Given the description of an element on the screen output the (x, y) to click on. 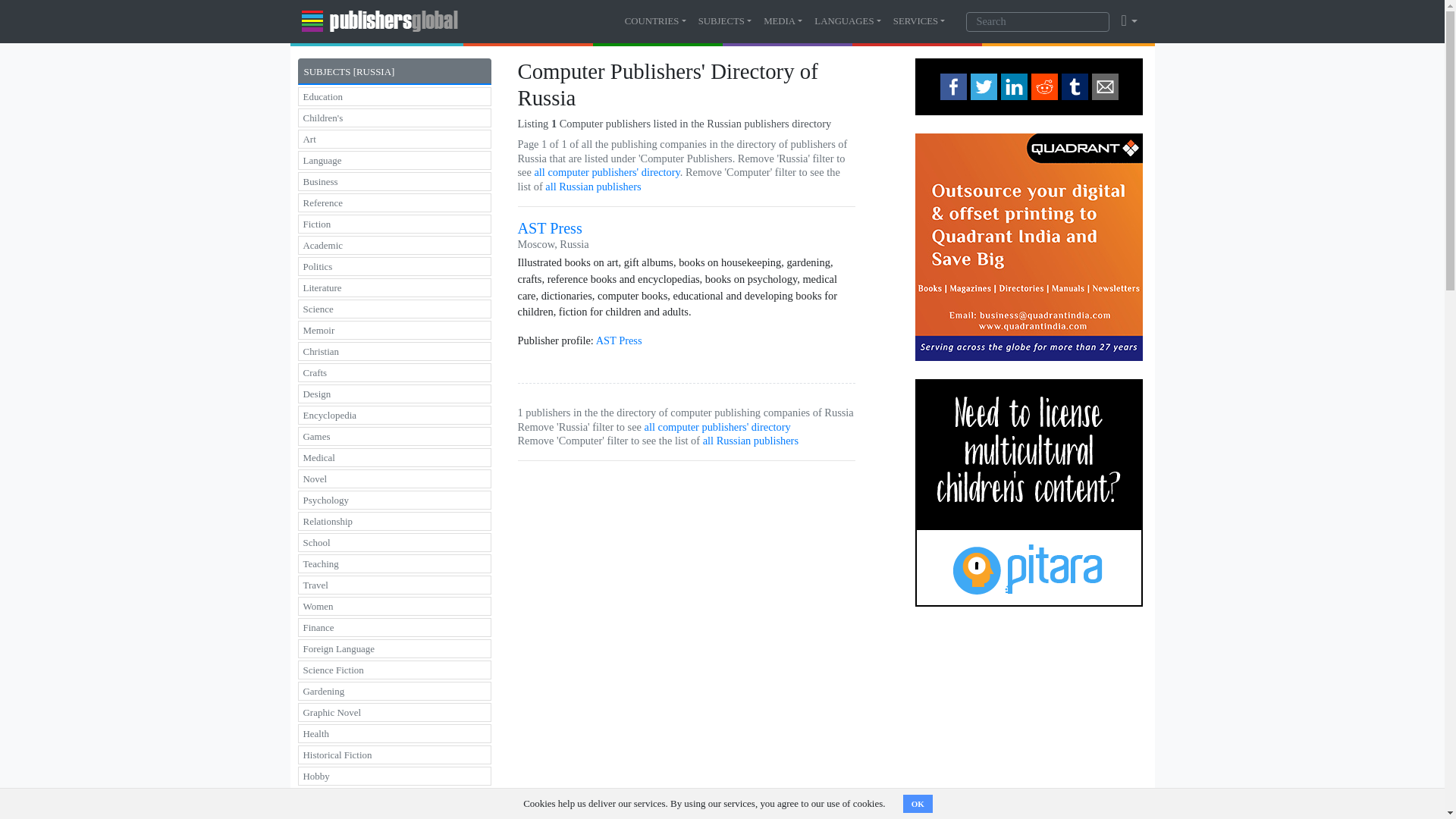
Share on Facebook! (953, 86)
Email a link to this page! (1105, 86)
Share on LinkedIn (1014, 86)
SUBJECTS (725, 21)
Share on Twitter! (984, 86)
Submit to Reddit (1044, 86)
MEDIA (782, 21)
Advertisement (685, 579)
Advertisement (1028, 721)
Share on Tumblr (1074, 86)
COUNTRIES (655, 21)
